Given the description of an element on the screen output the (x, y) to click on. 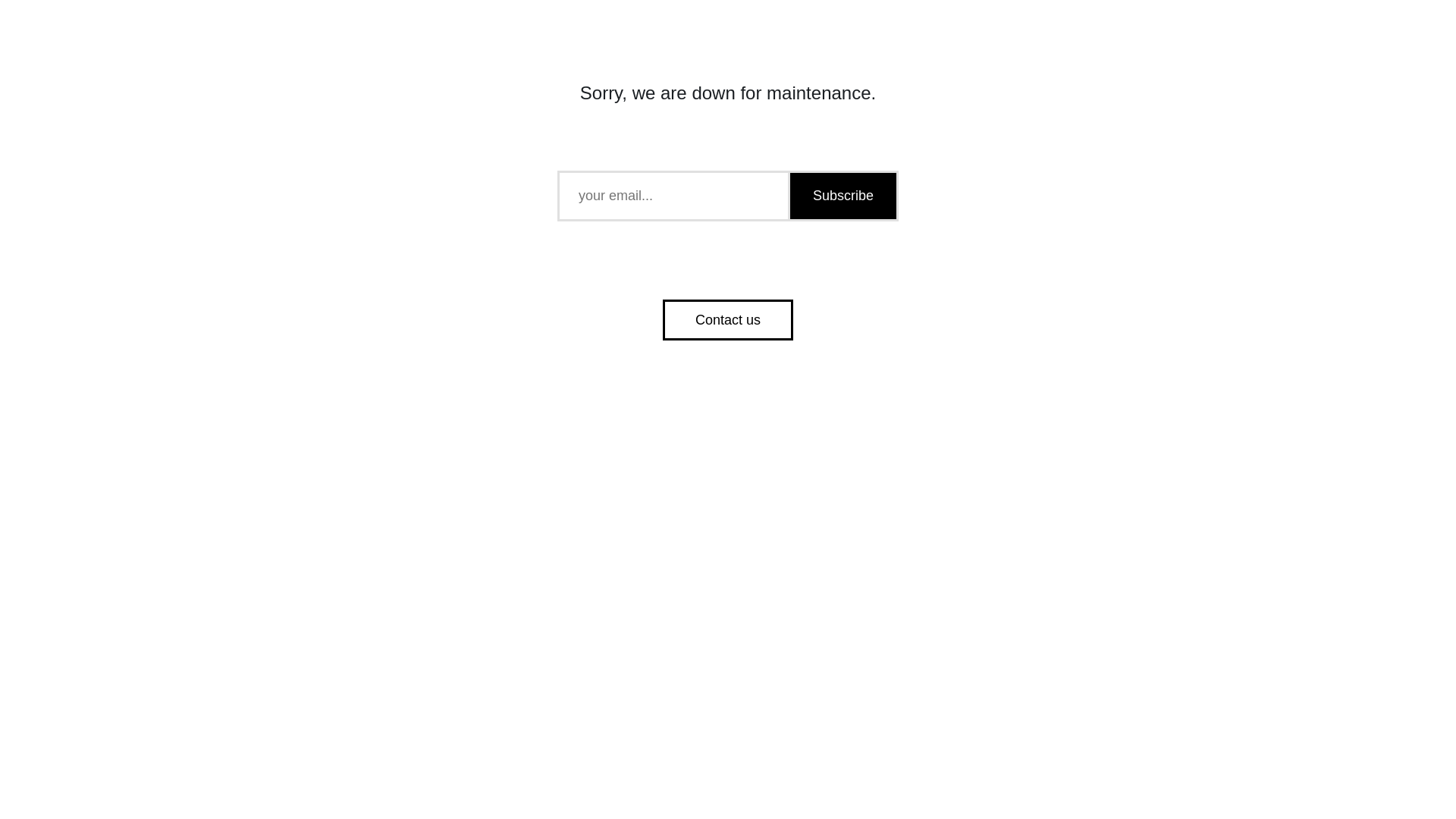
Subscribe Element type: text (841, 195)
Contact us Element type: text (727, 319)
